Given the description of an element on the screen output the (x, y) to click on. 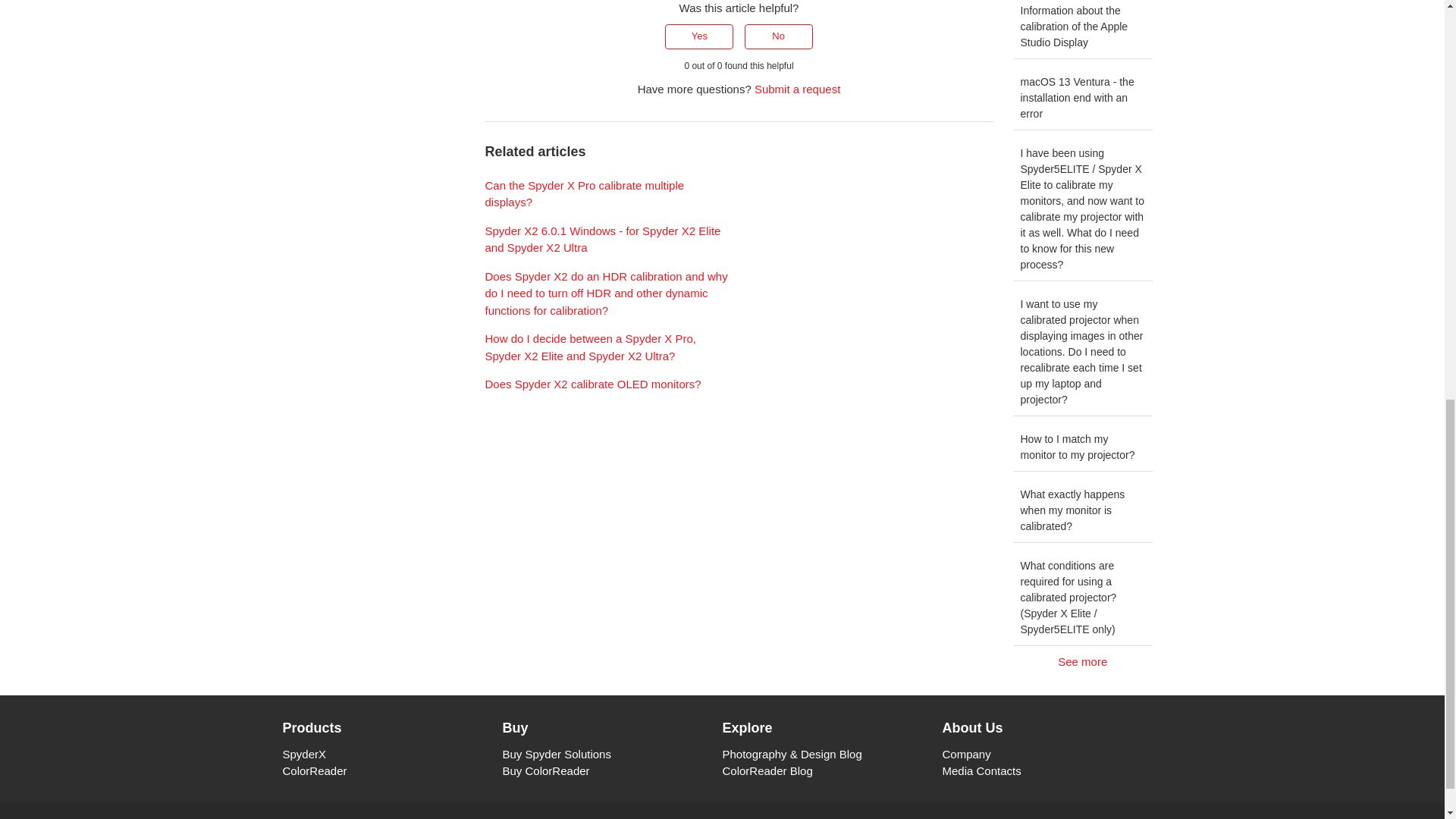
What exactly happens when my monitor is calibrated? (1083, 510)
Submit a request (797, 88)
See more (1083, 661)
Yes (699, 36)
ColorReader (314, 770)
macOS 13 Ventura - the installation end with an error (1083, 98)
Does Spyder X2 calibrate OLED monitors? (592, 383)
